Given the description of an element on the screen output the (x, y) to click on. 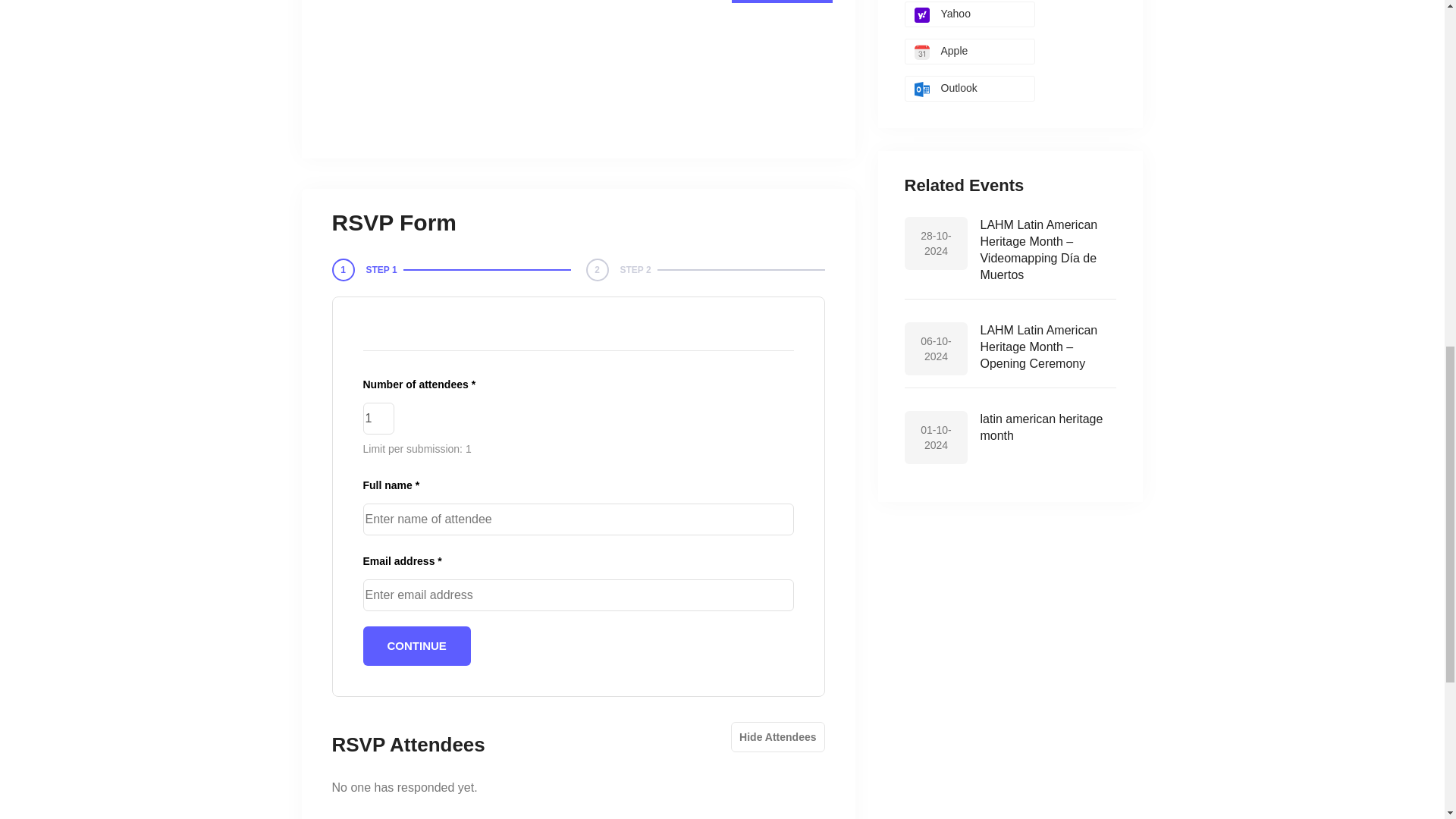
CONTINUE (416, 645)
Yahoo (968, 14)
Hide Attendees (777, 736)
View on Map (781, 1)
latin american heritage month (1040, 427)
Apple (968, 51)
1 (377, 418)
Outlook (968, 88)
